Given the description of an element on the screen output the (x, y) to click on. 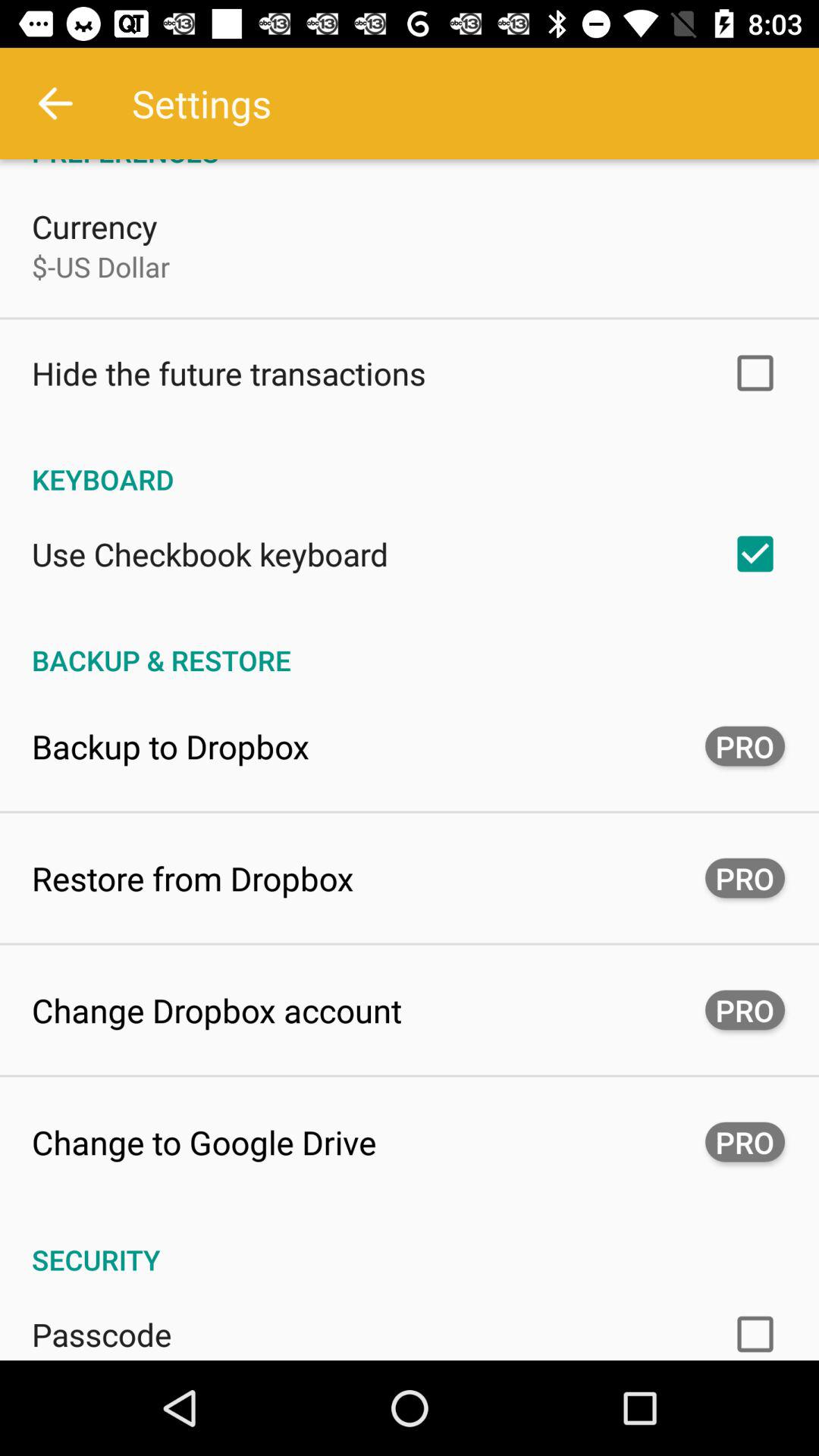
choose the preferences app (409, 164)
